Given the description of an element on the screen output the (x, y) to click on. 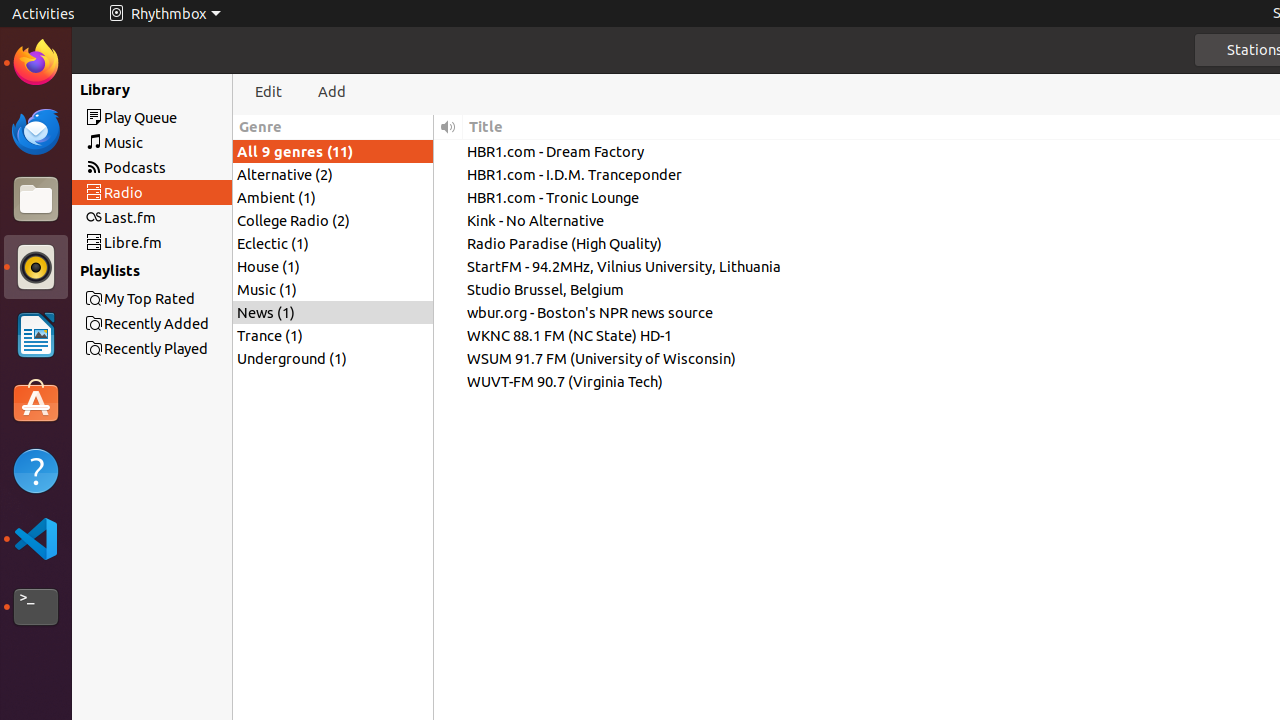
Firefox Web Browser Element type: push-button (36, 63)
Add Element type: push-button (332, 91)
Libre.fm Element type: table-cell (188, 242)
Trash Element type: label (133, 191)
Music (1) Element type: table-cell (333, 289)
